Given the description of an element on the screen output the (x, y) to click on. 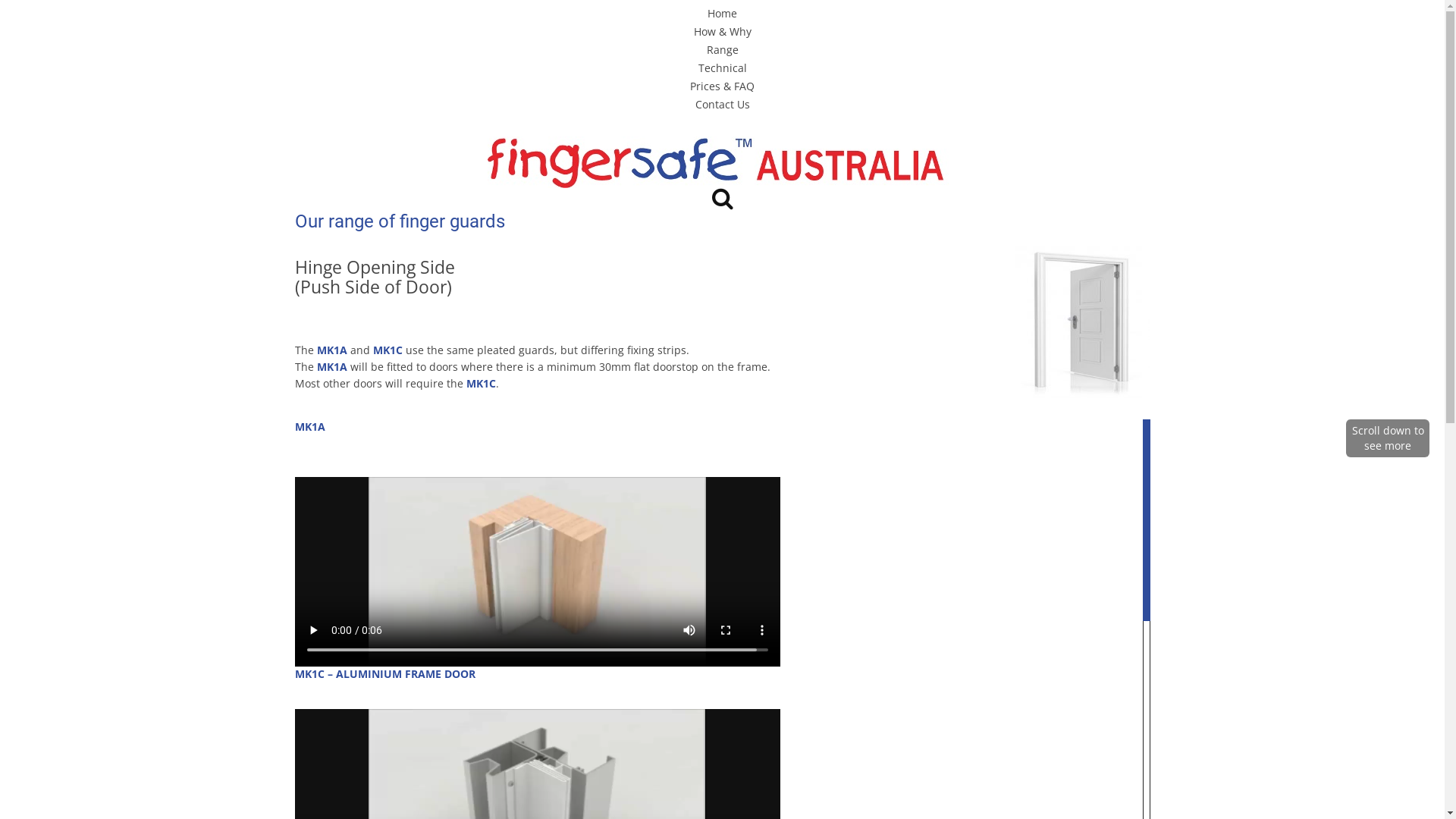
Prices & FAQ Element type: text (722, 85)
Contact Us Element type: text (721, 104)
How & Why Element type: text (721, 31)
Range Element type: text (722, 49)
Home Element type: text (722, 13)
Technical Element type: text (721, 67)
